Given the description of an element on the screen output the (x, y) to click on. 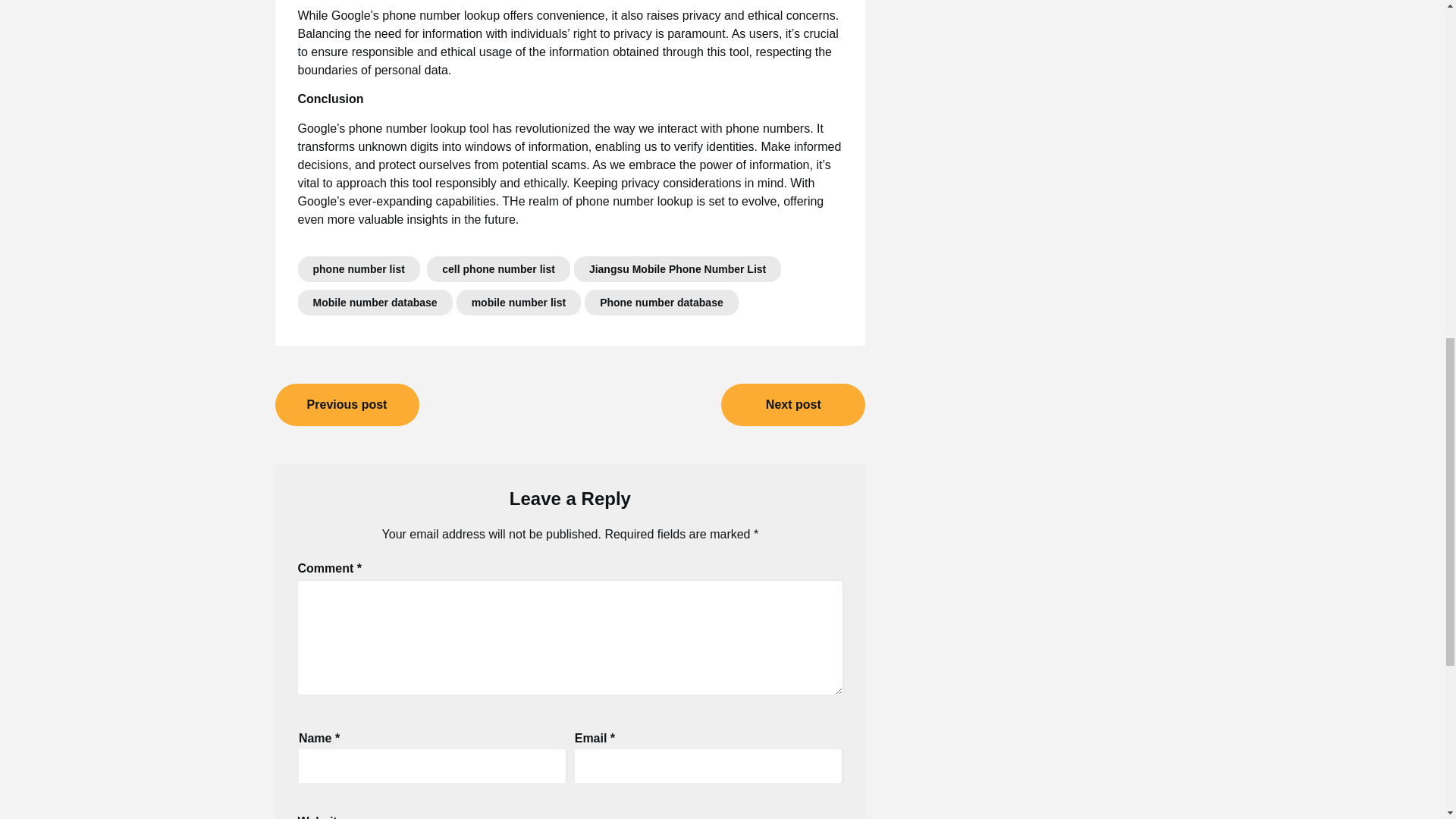
Previous post (347, 404)
phone number list (358, 268)
cell phone number list (498, 268)
Mobile number database (374, 302)
Phone number database (661, 302)
mobile number list (518, 302)
Jiangsu Mobile Phone Number List (676, 268)
Next post (792, 404)
